Given the description of an element on the screen output the (x, y) to click on. 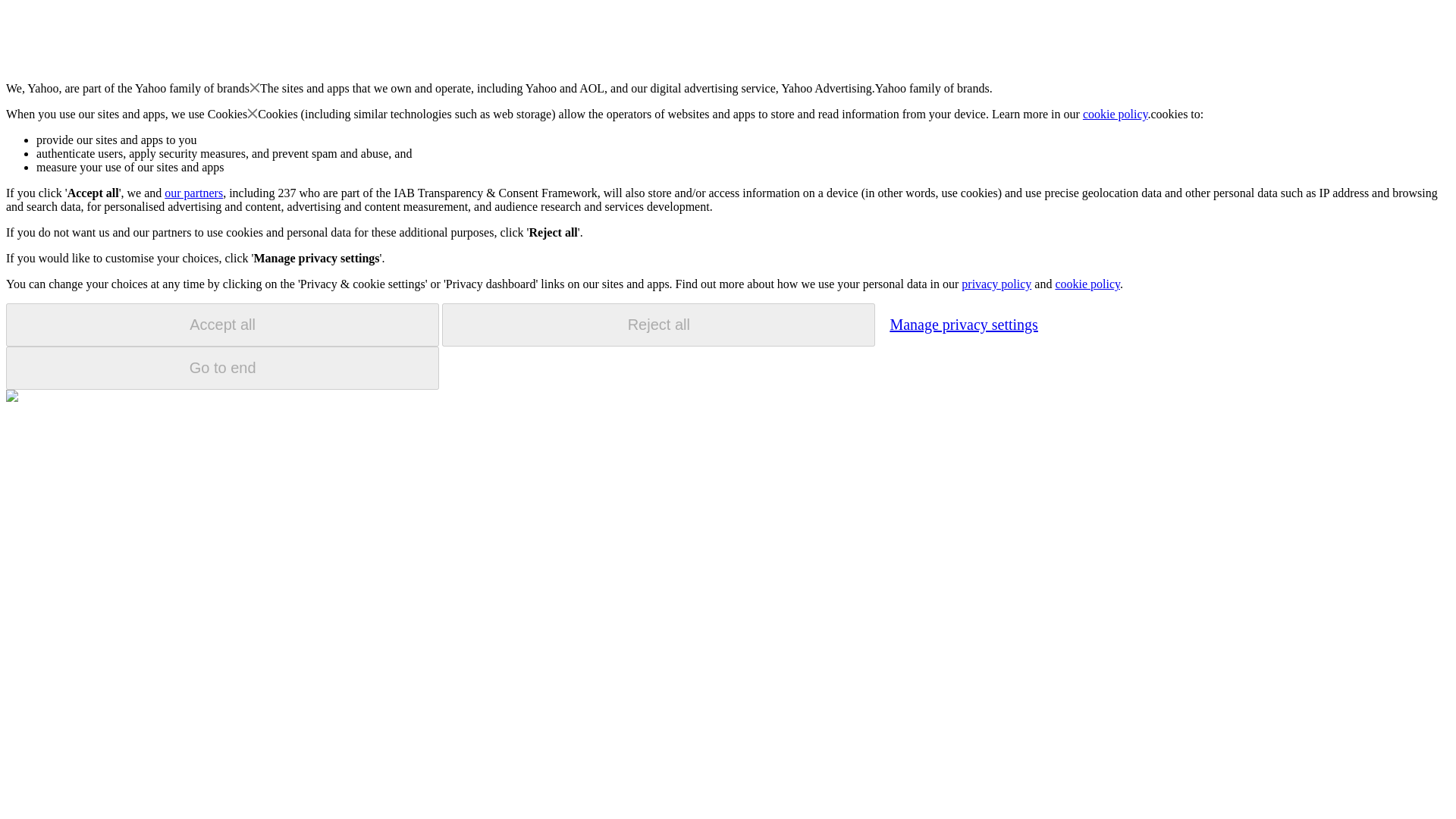
cookie policy (1115, 113)
Go to end (222, 367)
our partners (193, 192)
Reject all (658, 324)
Accept all (222, 324)
cookie policy (1086, 283)
privacy policy (995, 283)
Manage privacy settings (963, 323)
